Given the description of an element on the screen output the (x, y) to click on. 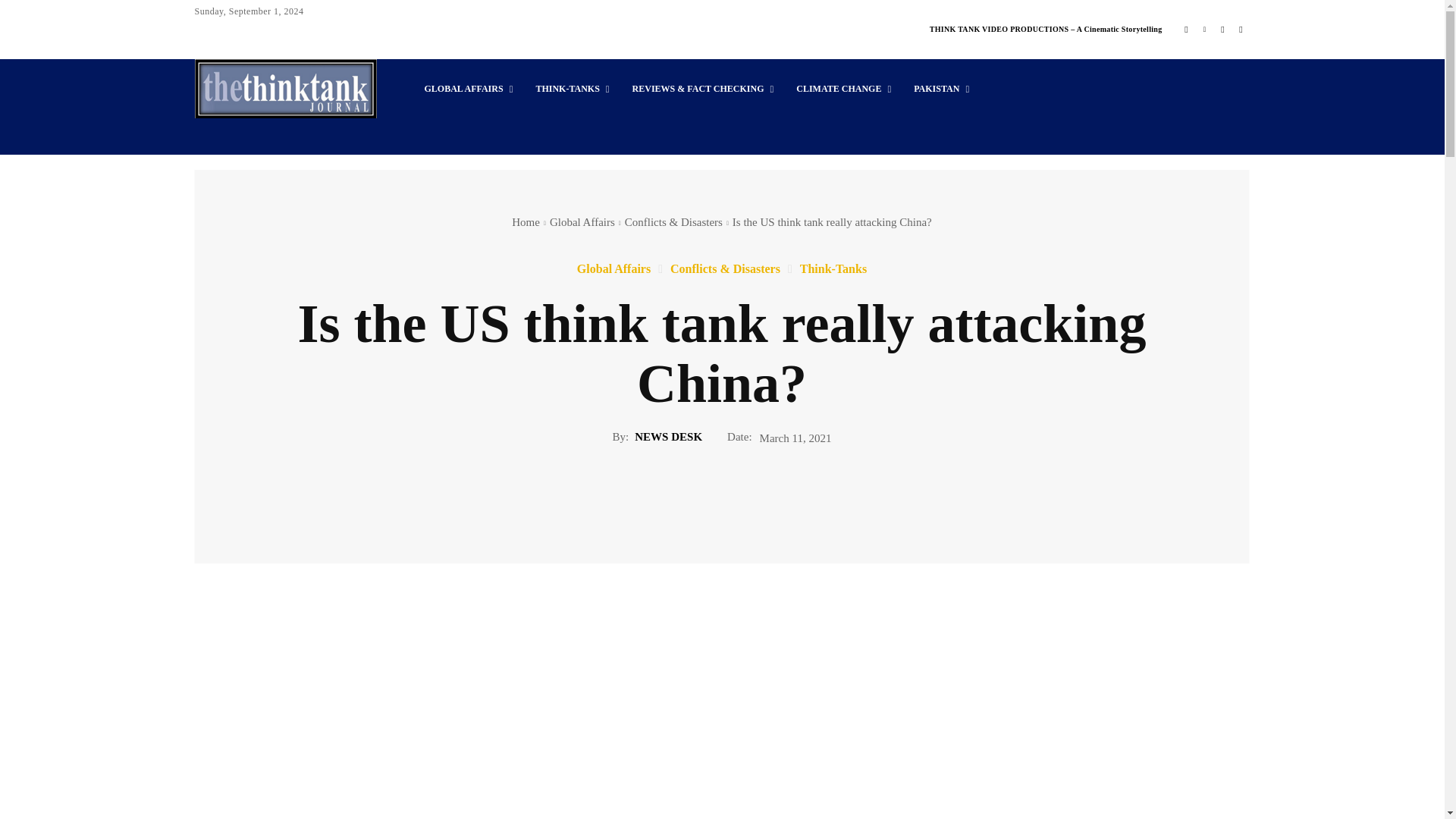
Facebook (1185, 29)
GLOBAL AFFAIRS (468, 88)
Twitter (1221, 29)
Youtube (1240, 29)
CLIMATE CHANGE (843, 88)
THINK-TANKS (572, 88)
Linkedin (1203, 29)
PAKISTAN (940, 88)
